Given the description of an element on the screen output the (x, y) to click on. 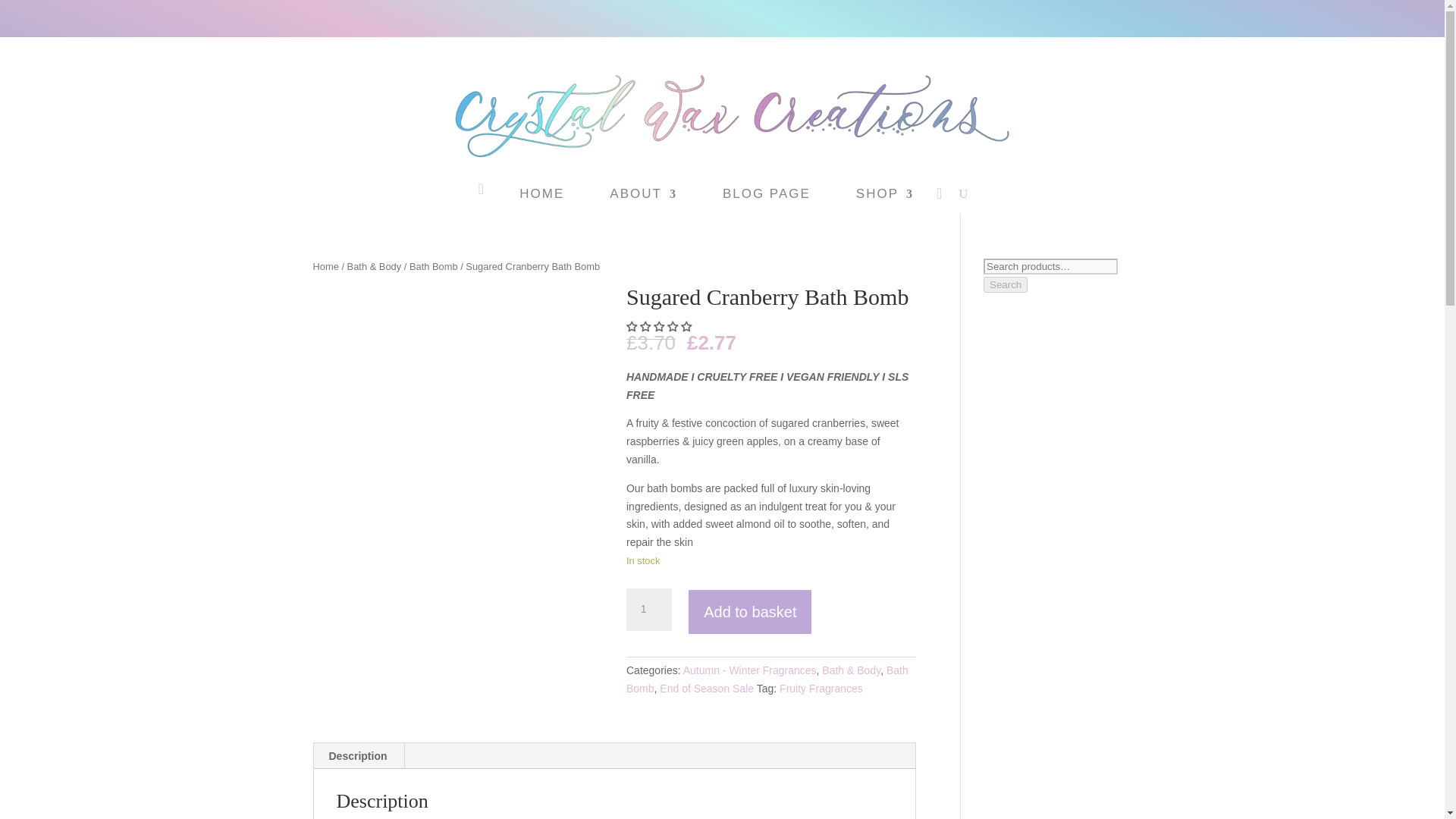
Crystal Wax Creations (722, 119)
HOME (541, 197)
1 (648, 609)
BLOG PAGE (766, 197)
SHOP (885, 197)
ABOUT (643, 197)
